Given the description of an element on the screen output the (x, y) to click on. 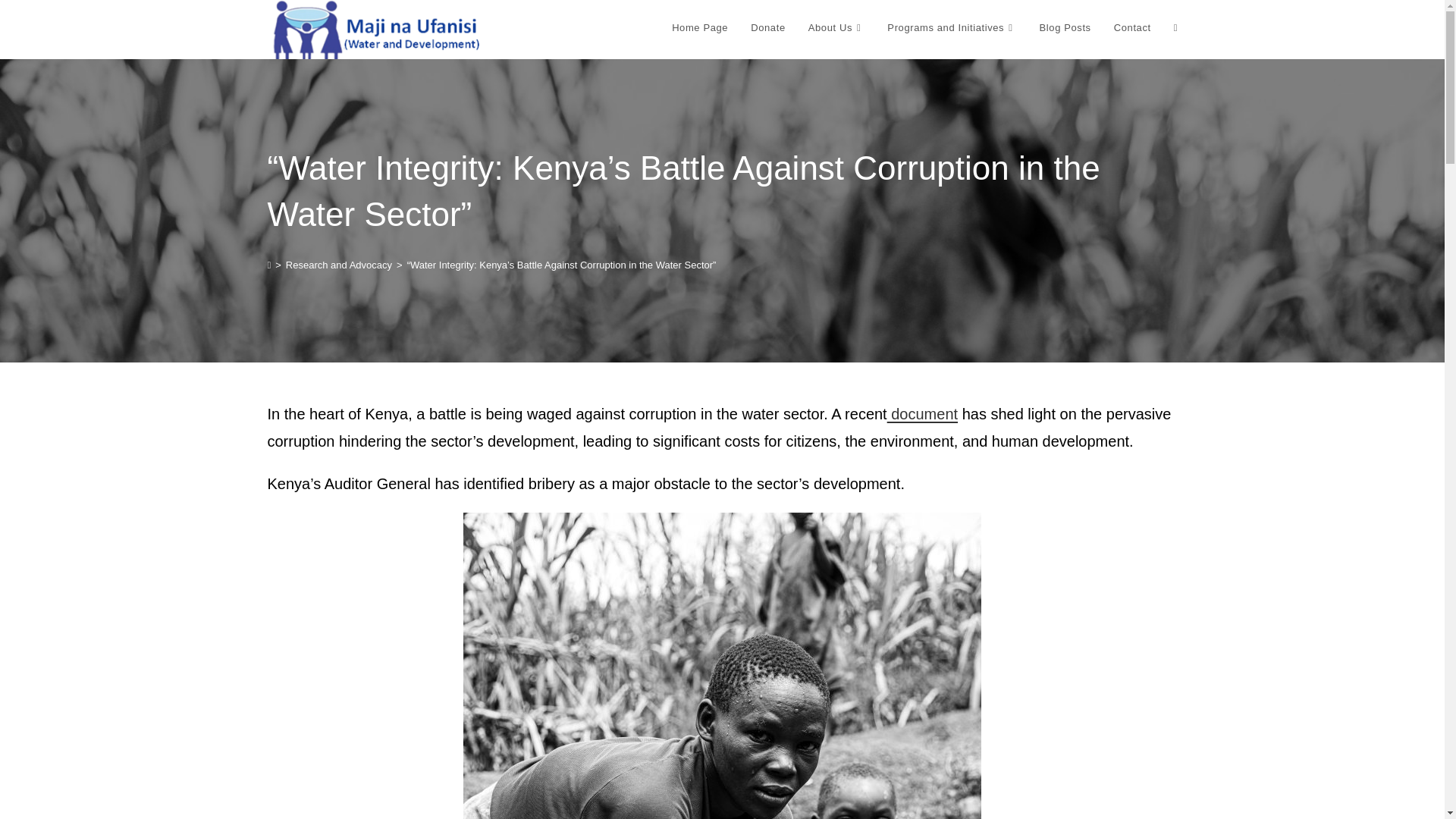
Programs and Initiatives (951, 28)
Contact (1131, 28)
Blog Posts (1064, 28)
Donate (767, 28)
Home Page (700, 28)
About Us (836, 28)
